Given the description of an element on the screen output the (x, y) to click on. 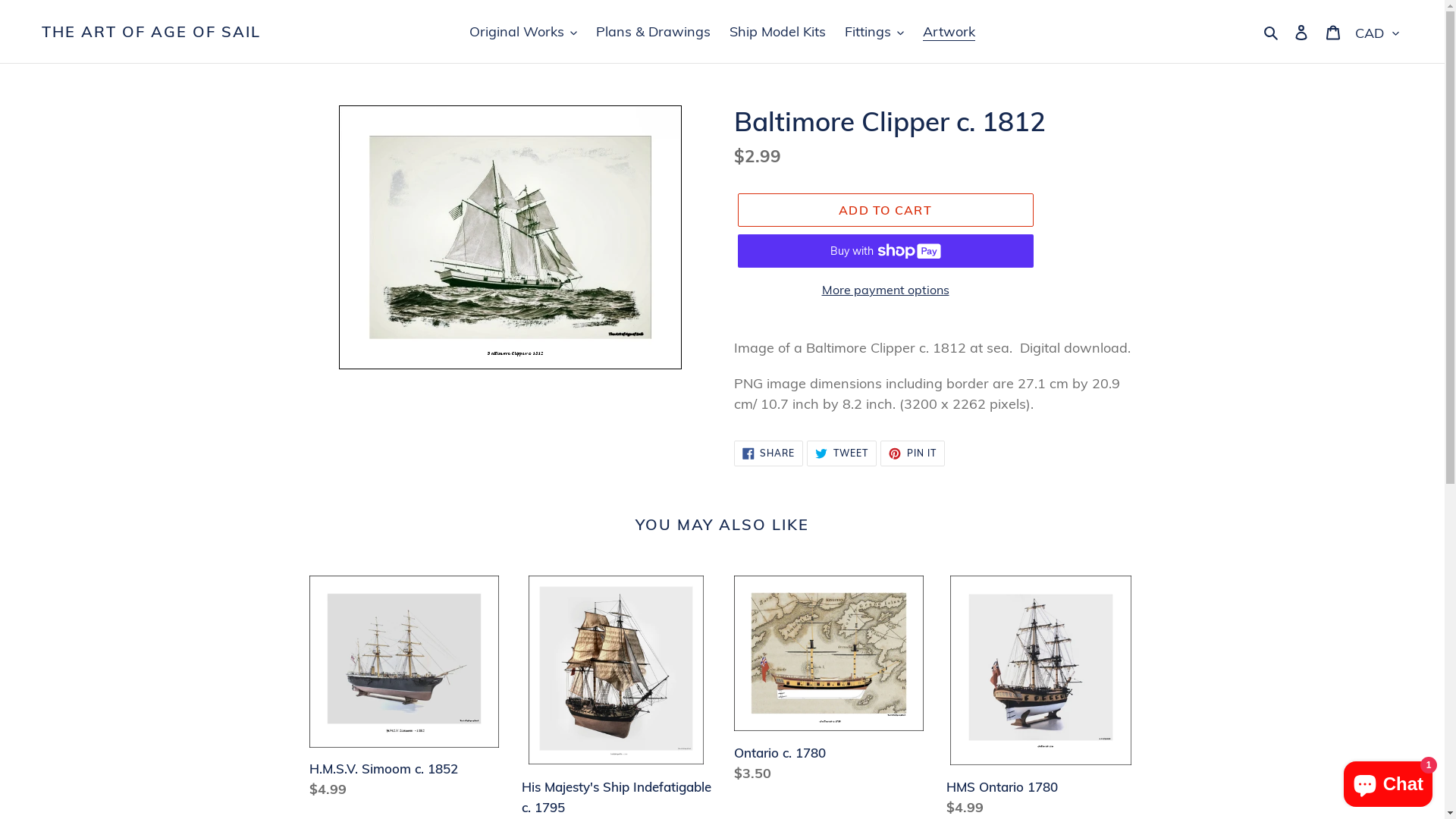
TWEET
TWEET ON TWITTER Element type: text (841, 453)
Ontario c. 1780 Element type: text (828, 682)
Fittings Element type: text (874, 30)
THE ART OF AGE OF SAIL Element type: text (150, 31)
PIN IT
PIN ON PINTEREST Element type: text (912, 453)
H.M.S.V. Simoom c. 1852 Element type: text (403, 690)
ADD TO CART Element type: text (884, 209)
More payment options Element type: text (884, 289)
Shopify online store chat Element type: hover (1388, 780)
Plans & Drawings Element type: text (653, 30)
Original Works Element type: text (522, 30)
Log in Element type: text (1301, 31)
Artwork Element type: text (948, 30)
SHARE
SHARE ON FACEBOOK Element type: text (768, 453)
Cart Element type: text (1333, 31)
Ship Model Kits Element type: text (777, 30)
Search Element type: text (1271, 31)
